Given the description of an element on the screen output the (x, y) to click on. 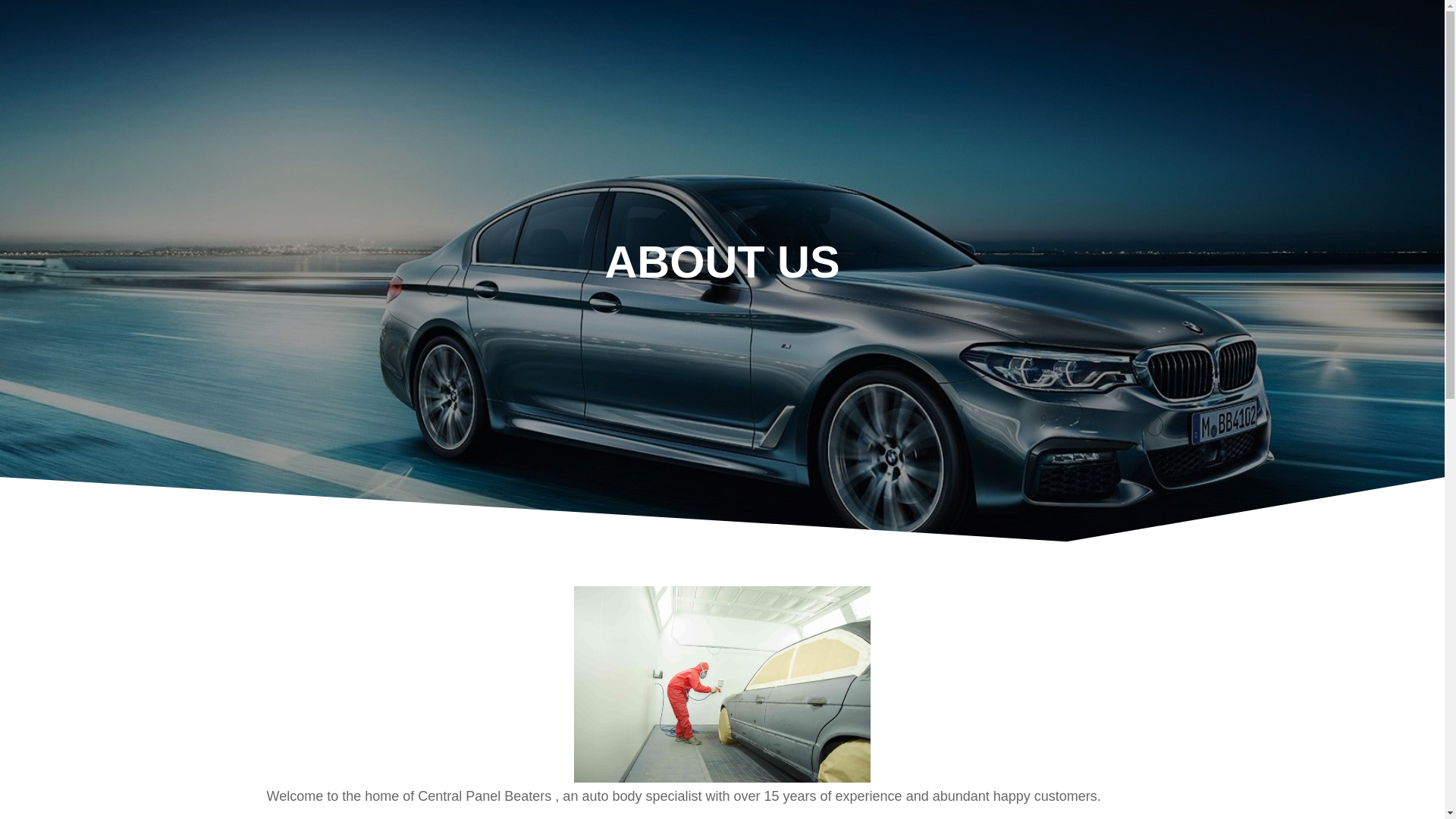
CONTACT US (1301, 34)
REPAIR PROCESS (1135, 34)
ABOUT US (1312, 104)
PRE-REPAIR PROCESS (928, 34)
CENTRAL PANELBEATERS (266, 69)
